Given the description of an element on the screen output the (x, y) to click on. 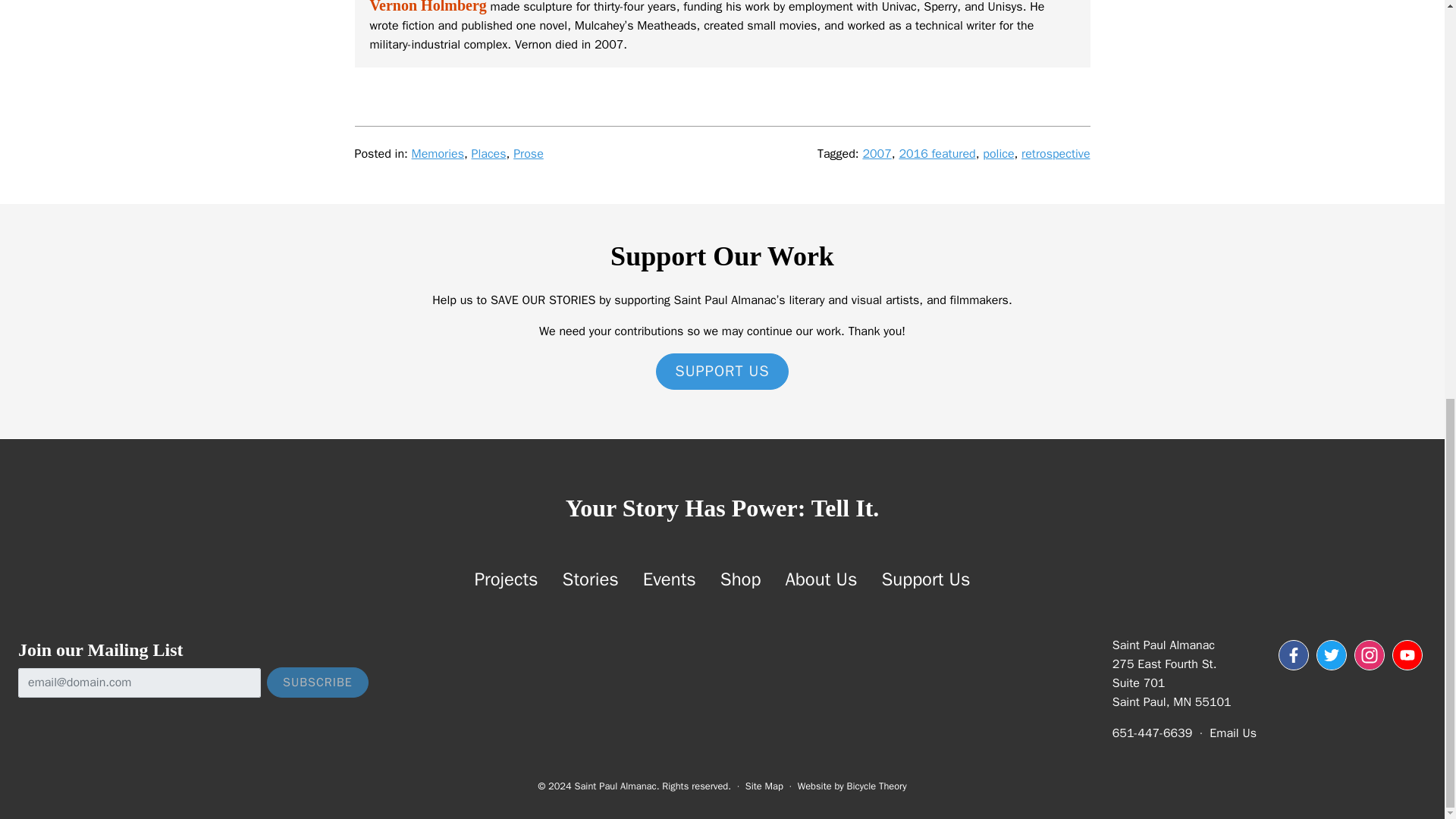
Memories (438, 153)
2016 featured (936, 153)
Prose (528, 153)
Subscribe (317, 682)
2007 (876, 153)
Places (488, 153)
police (997, 153)
